Given the description of an element on the screen output the (x, y) to click on. 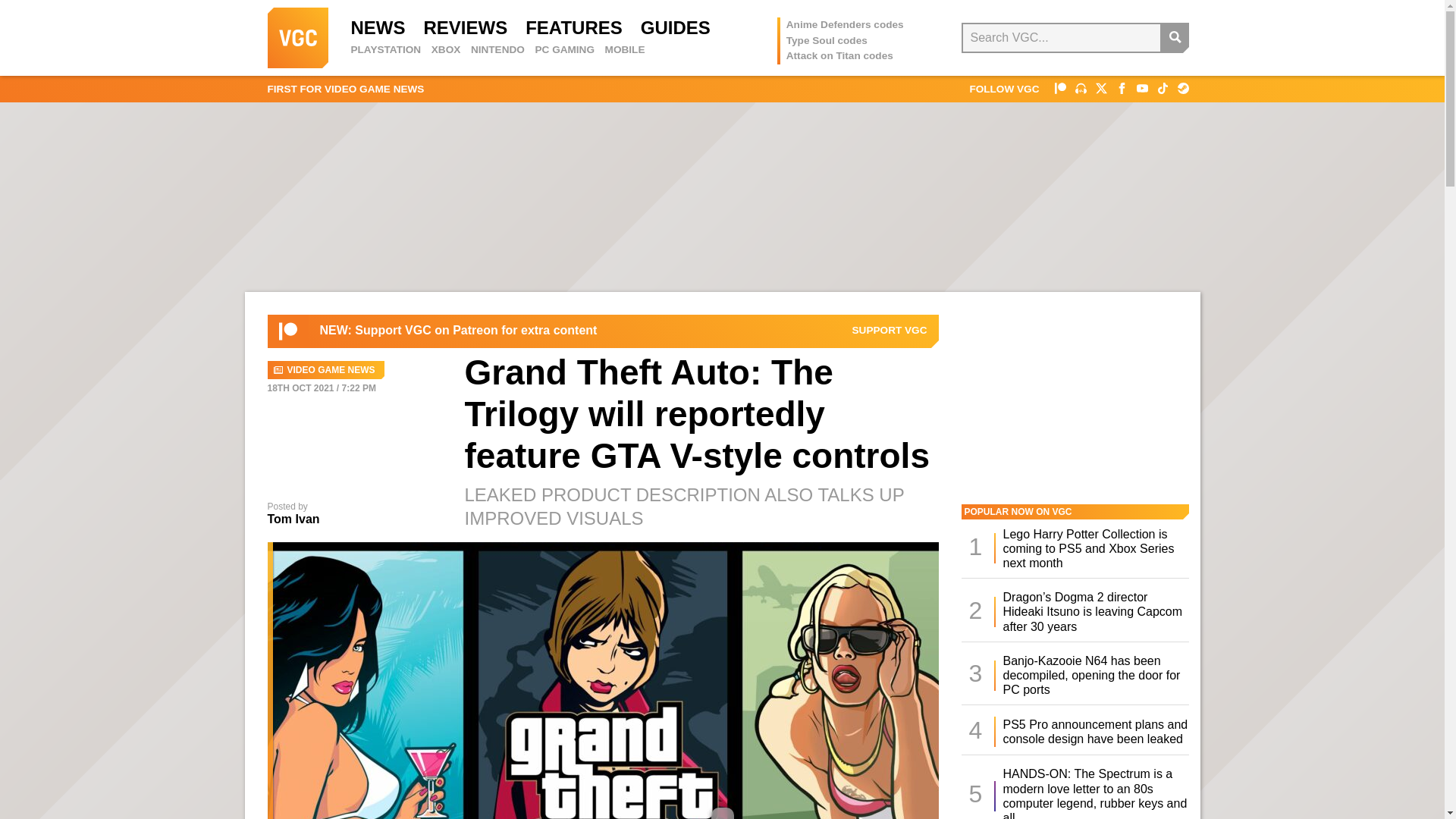
GUIDES (675, 27)
MOBILE (625, 49)
VGC (296, 37)
Attack on Titan codes (839, 55)
FEATURES (574, 27)
Type Soul codes (826, 40)
Posts by Tom Ivan (292, 518)
PLAYSTATION (385, 49)
Tom Ivan (292, 518)
XBOX (445, 49)
